Given the description of an element on the screen output the (x, y) to click on. 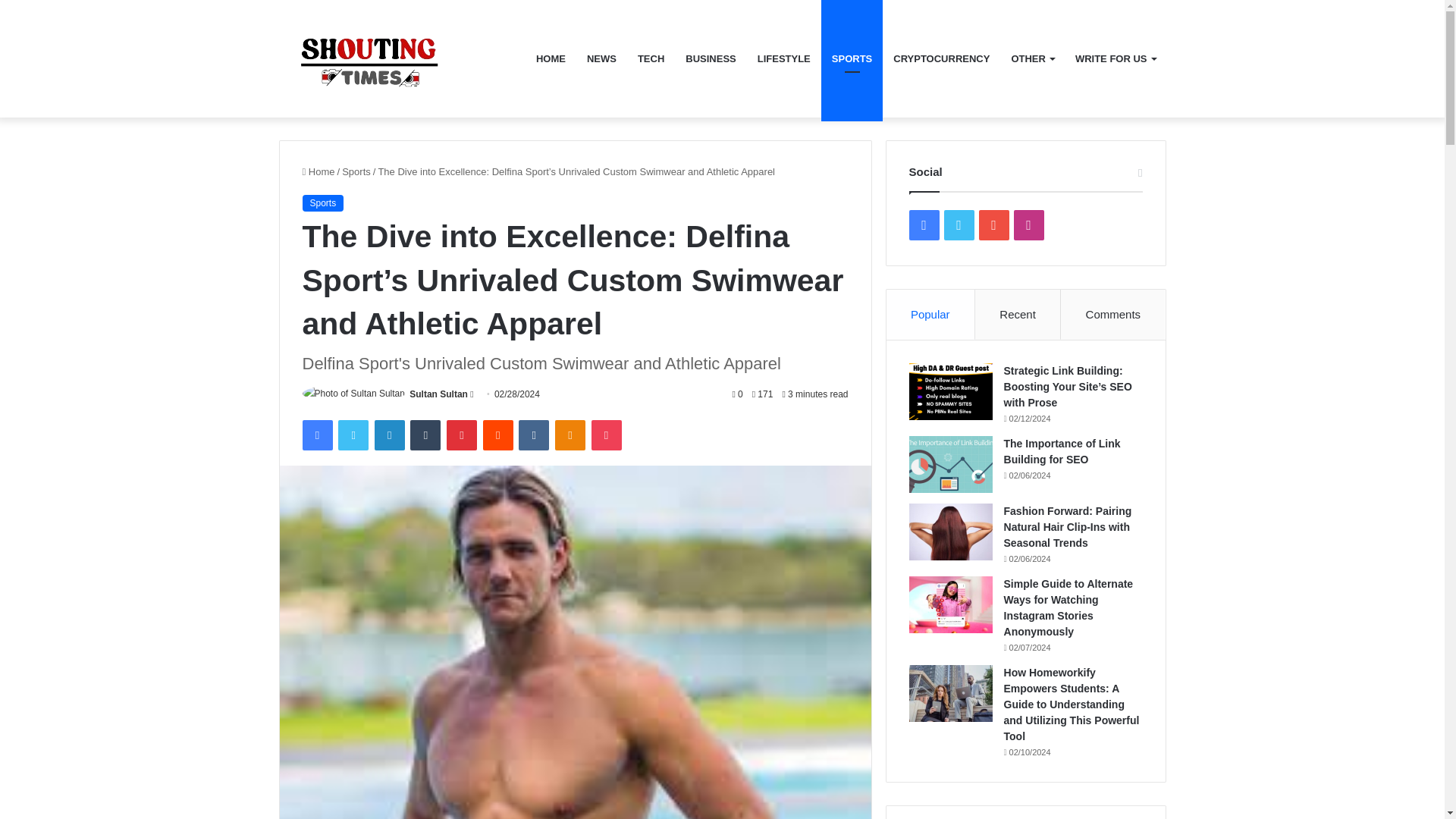
Odnoklassniki (569, 435)
Home (317, 171)
Odnoklassniki (569, 435)
LinkedIn (389, 435)
Pocket (606, 435)
VKontakte (533, 435)
Sultan Sultan (438, 394)
Sultan Sultan (438, 394)
Pinterest (461, 435)
Reddit (498, 435)
Sports (356, 171)
Facebook (316, 435)
Sports (322, 202)
Twitter (352, 435)
Tumblr (425, 435)
